Given the description of an element on the screen output the (x, y) to click on. 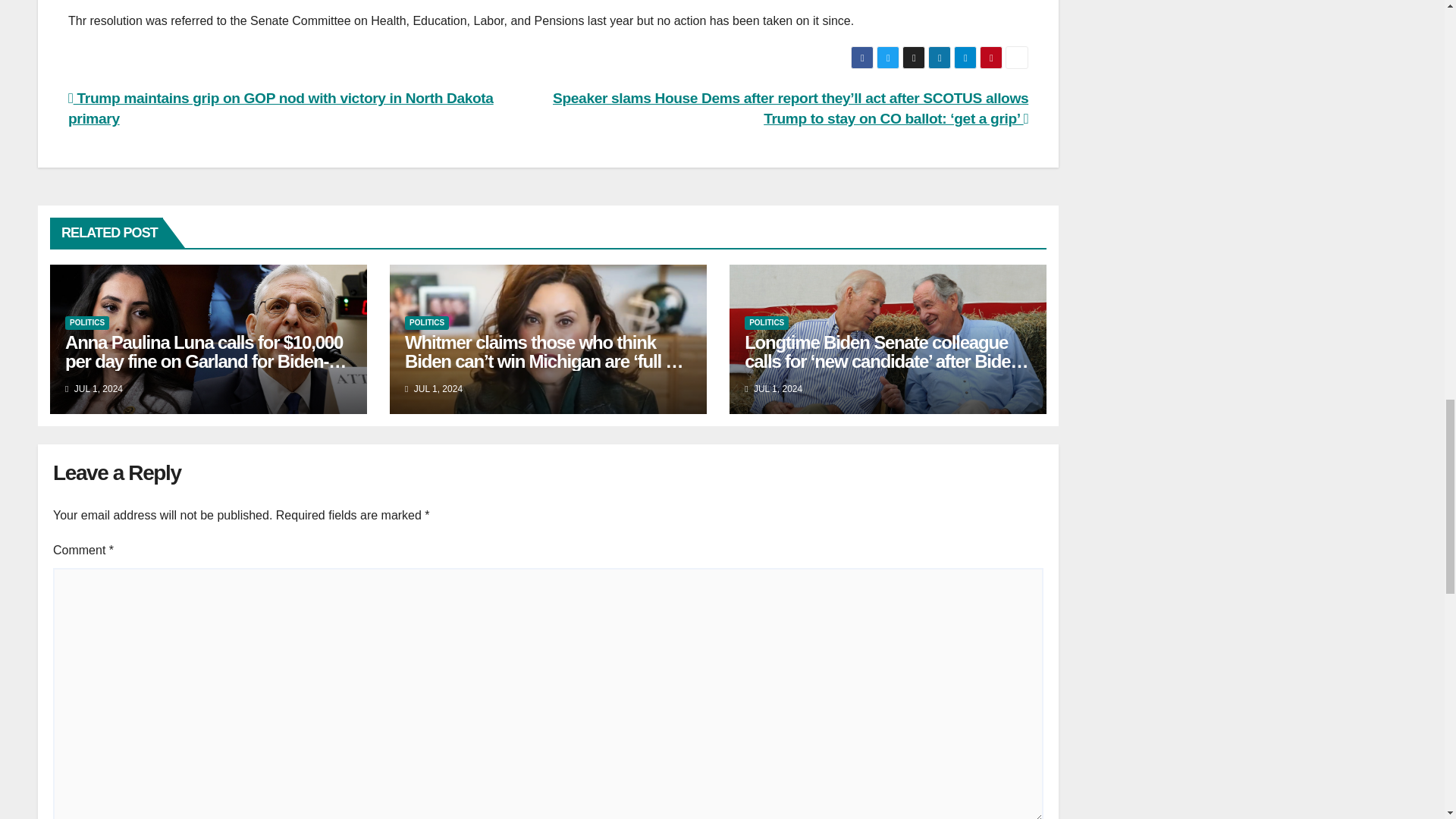
POLITICS (87, 323)
POLITICS (426, 323)
POLITICS (766, 323)
